Given the description of an element on the screen output the (x, y) to click on. 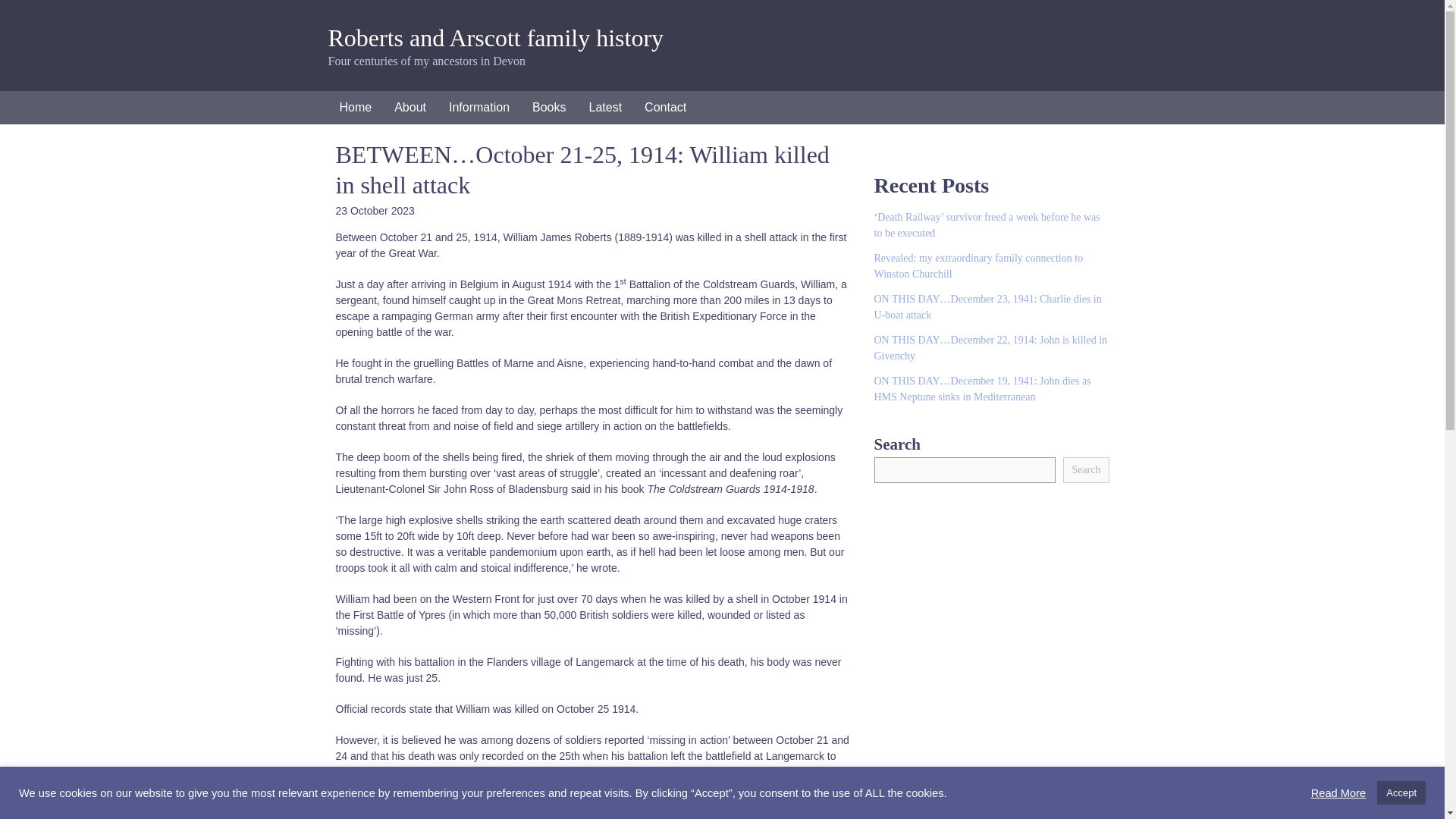
Read More (1339, 792)
Contact (665, 107)
Accept (1401, 792)
Roberts and Arscott family history (495, 37)
About (410, 107)
Search (1085, 469)
Home (354, 107)
Latest (605, 107)
Books (548, 107)
Information (479, 107)
